Given the description of an element on the screen output the (x, y) to click on. 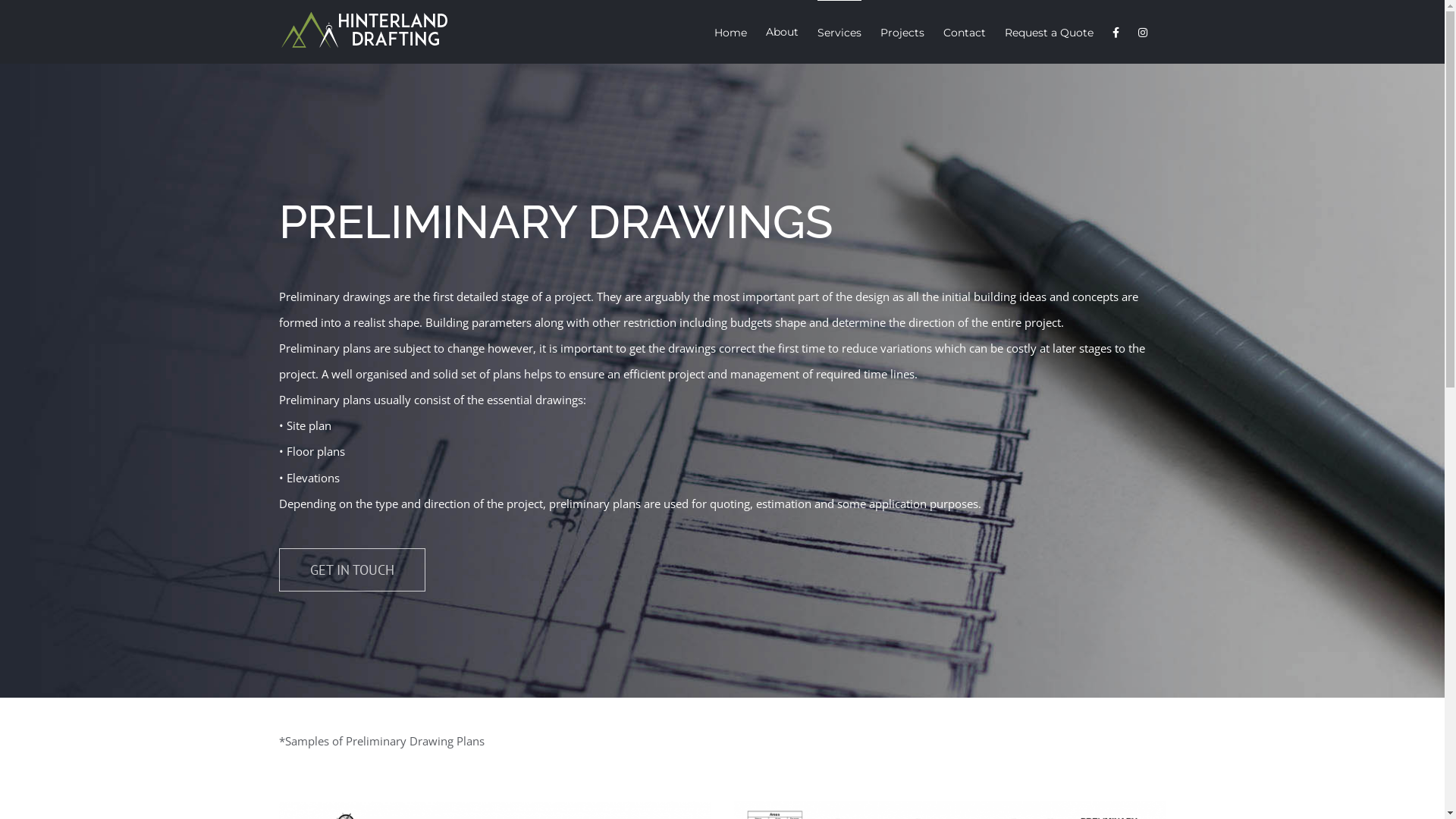
Request a Quote Element type: text (1048, 31)
Services Element type: text (839, 31)
Home Element type: text (730, 31)
Projects Element type: text (901, 31)
GET IN TOUCH Element type: text (352, 569)
Contact Element type: text (964, 31)
About Element type: text (781, 31)
